Given the description of an element on the screen output the (x, y) to click on. 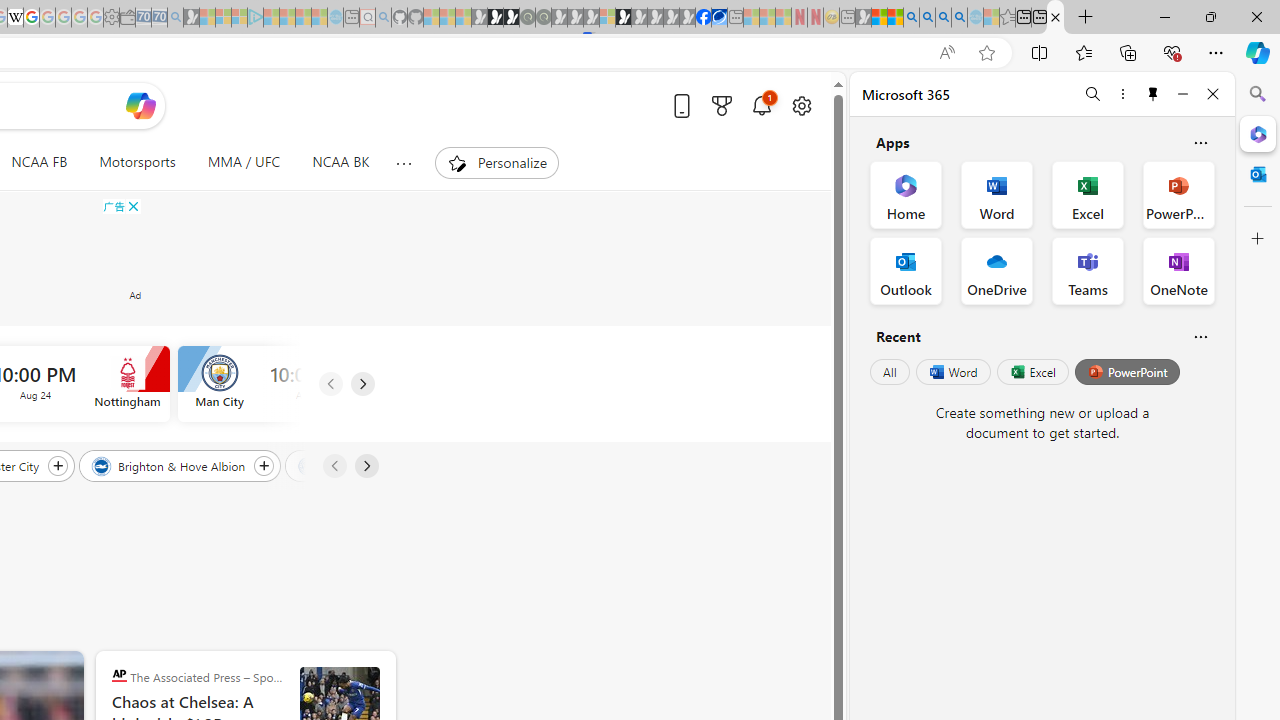
AirNow.gov (719, 17)
Is this helpful? (1200, 336)
2009 Bing officially replaced Live Search on June 3 - Search (927, 17)
MMA / UFC (243, 162)
Nordace | Facebook (703, 17)
